Given the description of an element on the screen output the (x, y) to click on. 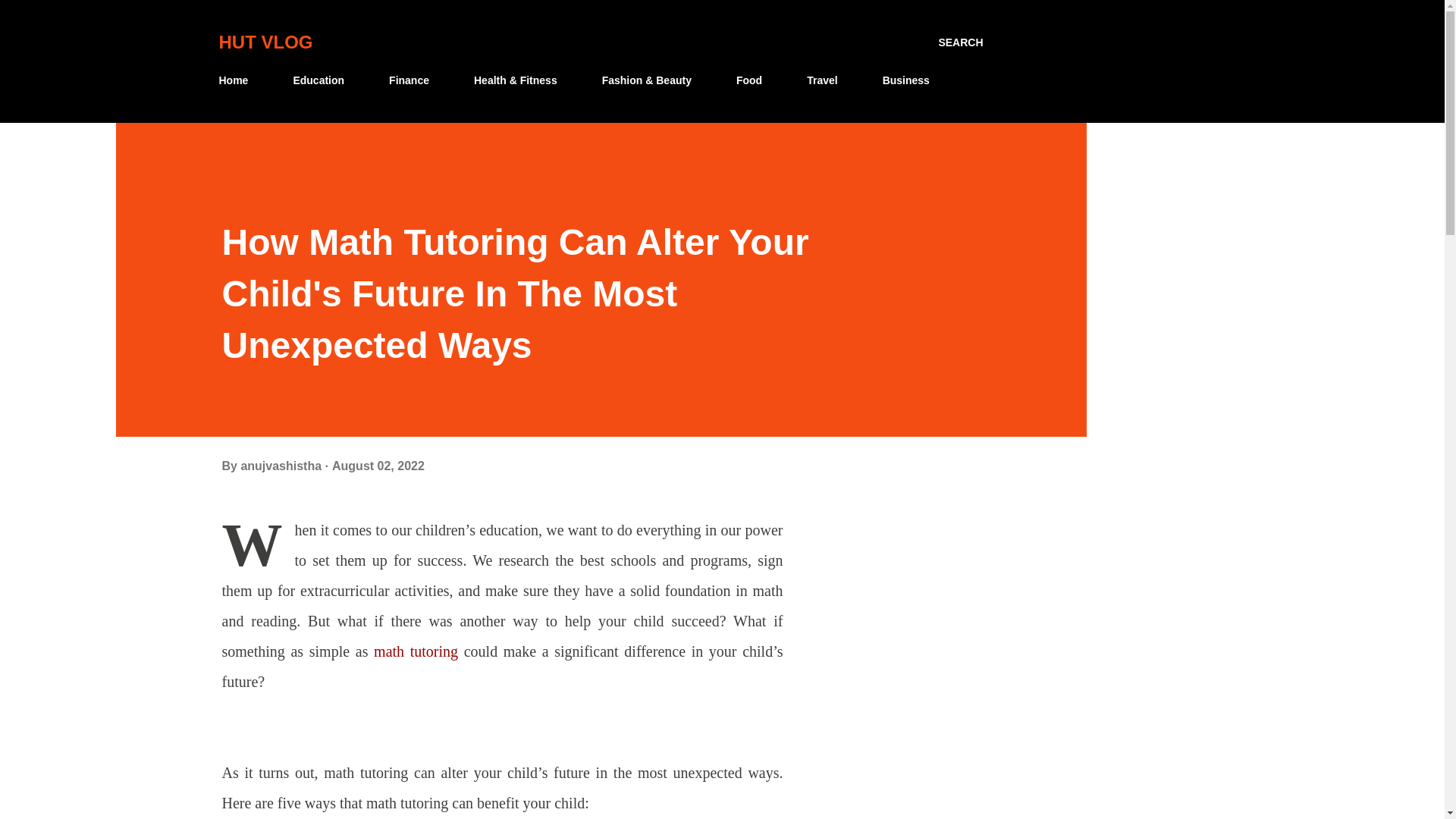
Education (318, 80)
SEARCH (959, 42)
math tutoring (416, 651)
anujvashistha (282, 465)
August 02, 2022 (378, 465)
permanent link (378, 465)
author profile (282, 465)
Business (906, 80)
Travel (821, 80)
Finance (409, 80)
Home (237, 80)
Food (748, 80)
HUT VLOG (265, 41)
